Given the description of an element on the screen output the (x, y) to click on. 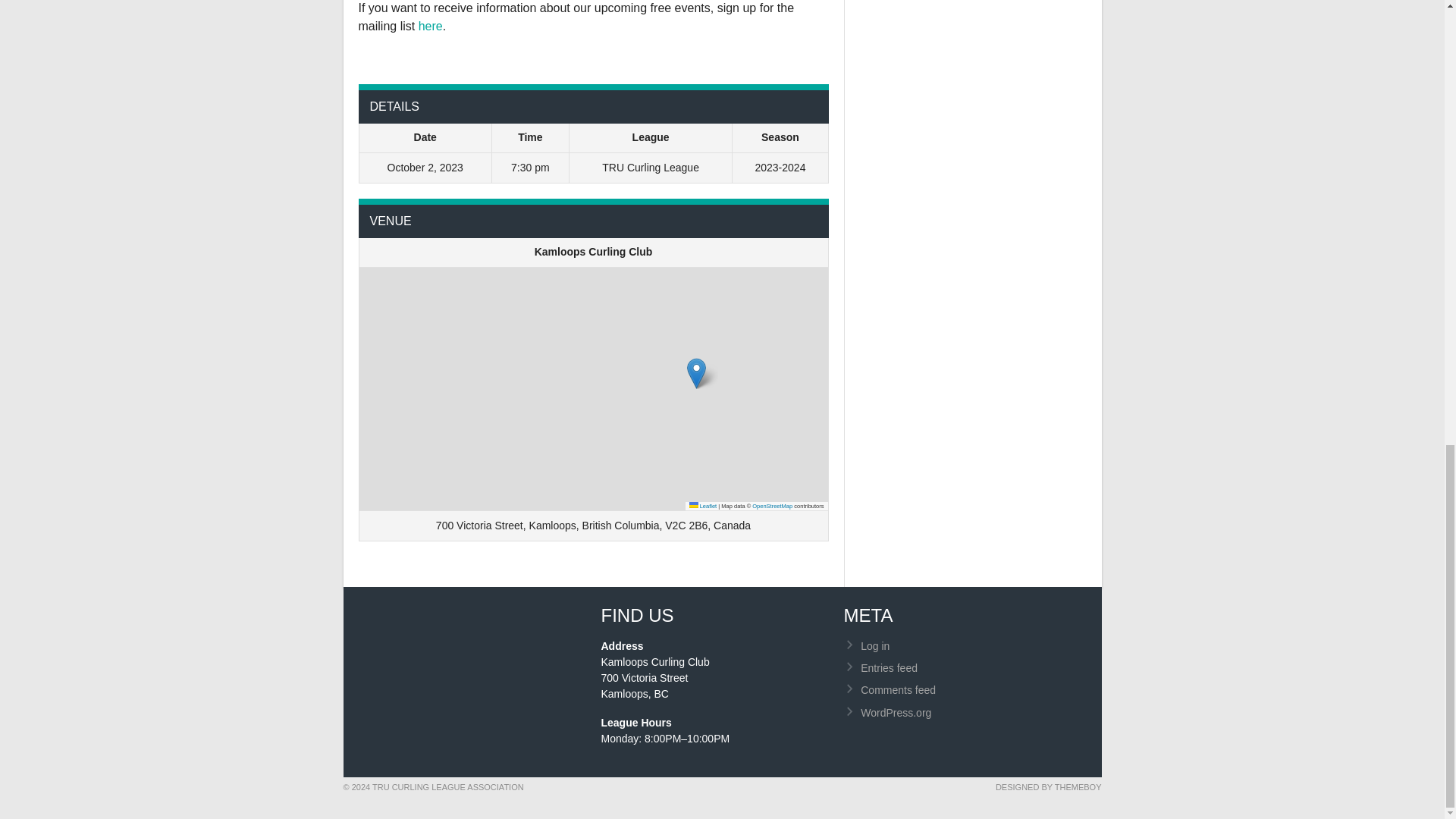
Leaflet (702, 505)
DESIGNED BY THEMEBOY (1048, 786)
Comments feed (898, 689)
WordPress.org (895, 712)
A JavaScript library for interactive maps (702, 505)
Log in (874, 645)
here (430, 24)
OpenStreetMap (772, 505)
Entries feed (888, 667)
